Given the description of an element on the screen output the (x, y) to click on. 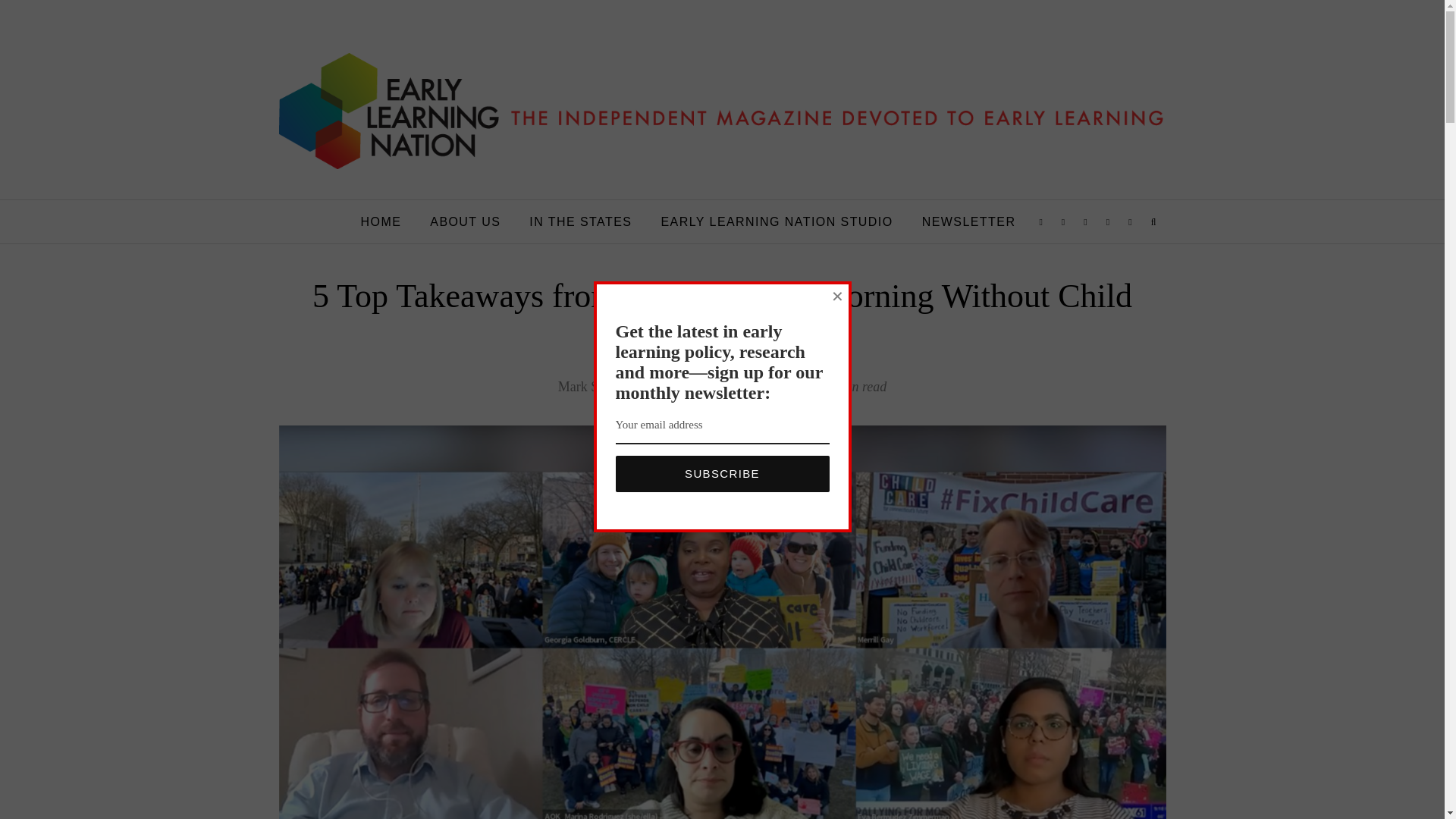
Subscribe (722, 473)
Top Takeaways (685, 387)
EARLY LEARNING NATION STUDIO (776, 221)
Mark Swartz (592, 386)
ABOUT US (464, 221)
IN THE STATES (580, 221)
NEWSLETTER (968, 221)
HOME (380, 221)
